Given the description of an element on the screen output the (x, y) to click on. 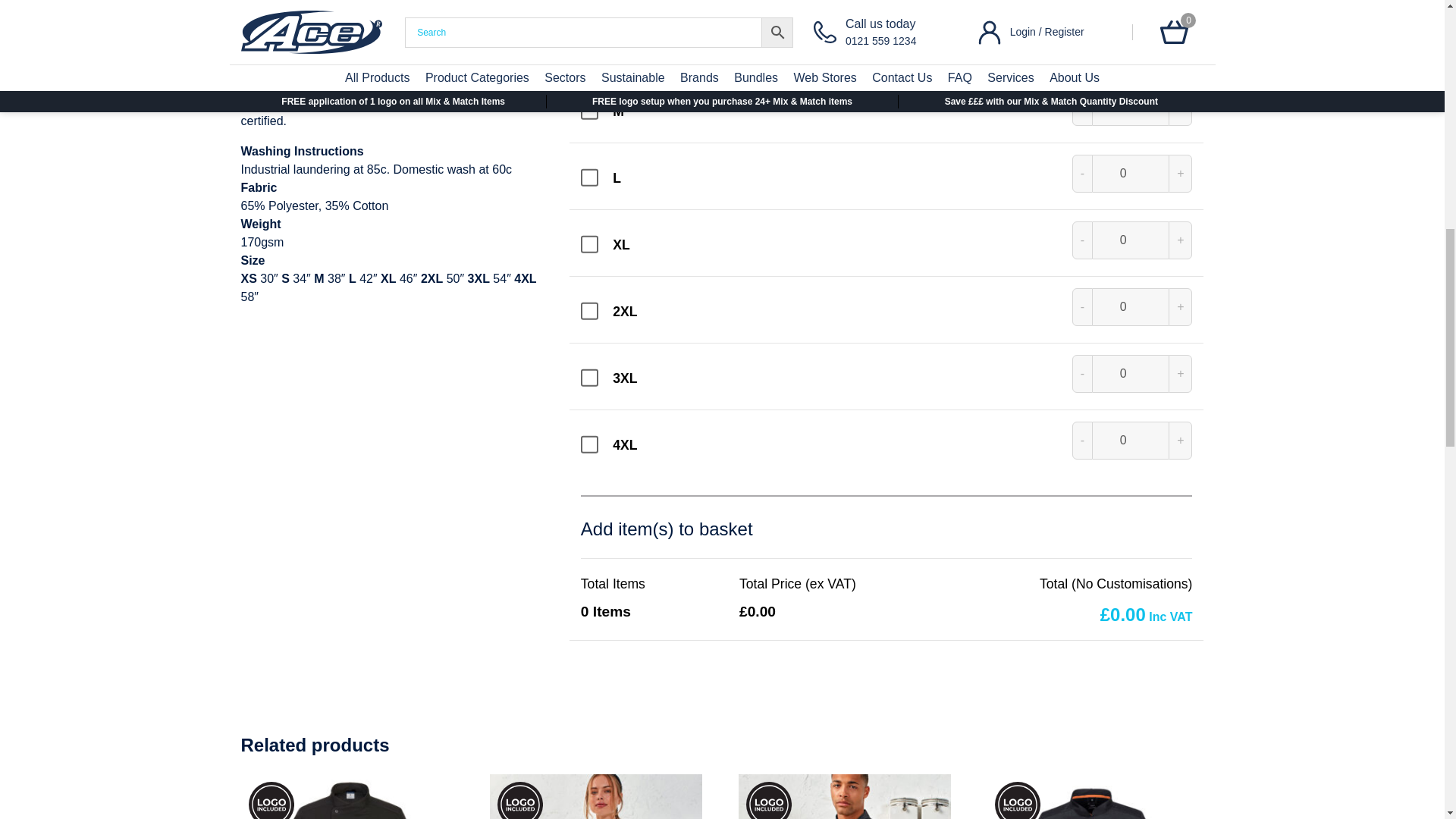
0 (1131, 306)
0 (1131, 373)
0 (1131, 440)
0 (1131, 173)
0 (1131, 106)
0 (1131, 240)
0 (1131, 39)
